Given the description of an element on the screen output the (x, y) to click on. 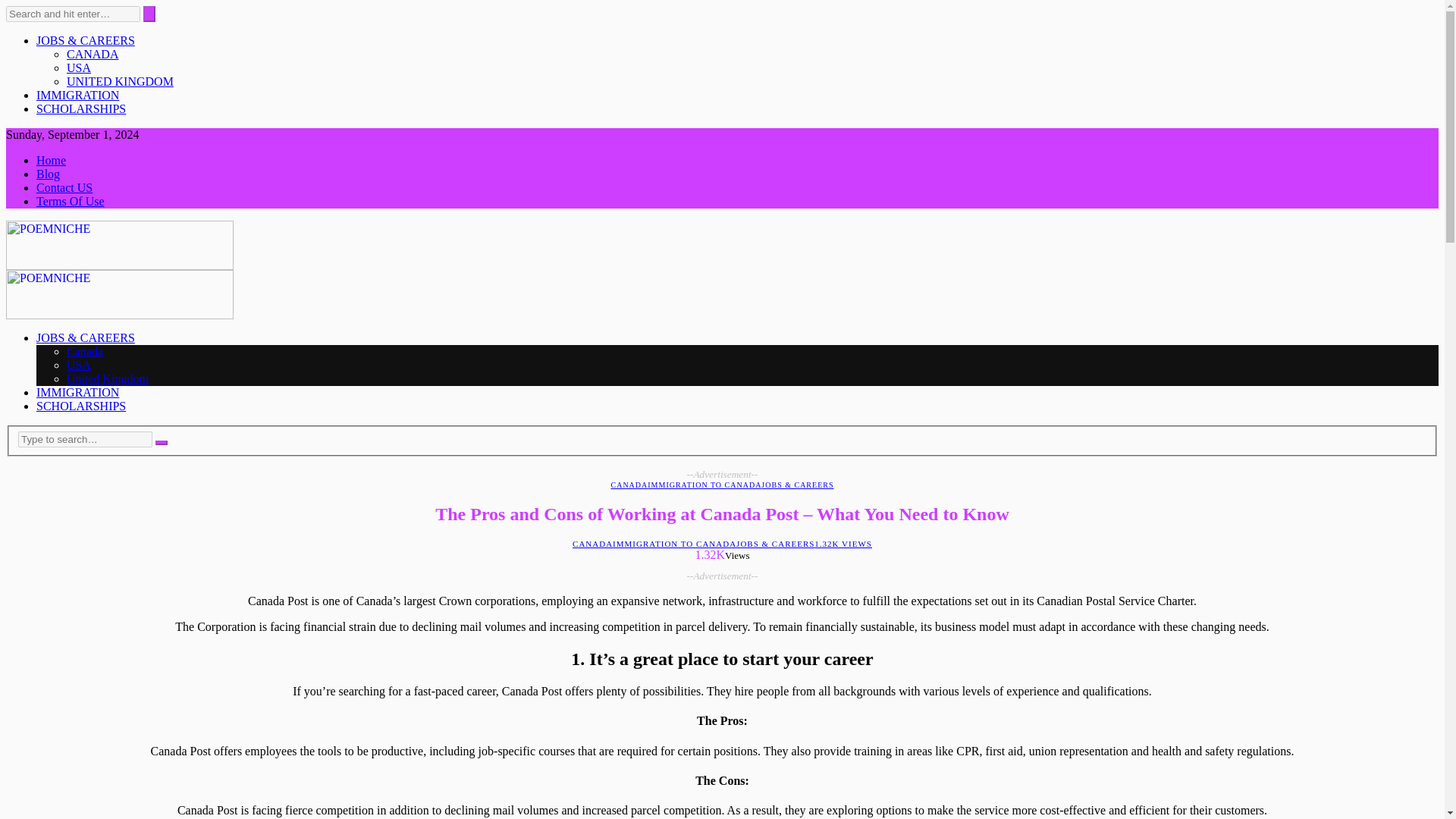
United Kingdom (107, 378)
SCHOLARSHIPS (80, 108)
Canada (84, 350)
UNITED KINGDOM (119, 81)
CANADA (592, 542)
POEMNICHE (118, 265)
IMMIGRATION (77, 94)
IMMIGRATION (77, 391)
USA (78, 364)
POEMNICHE (118, 314)
